Given the description of an element on the screen output the (x, y) to click on. 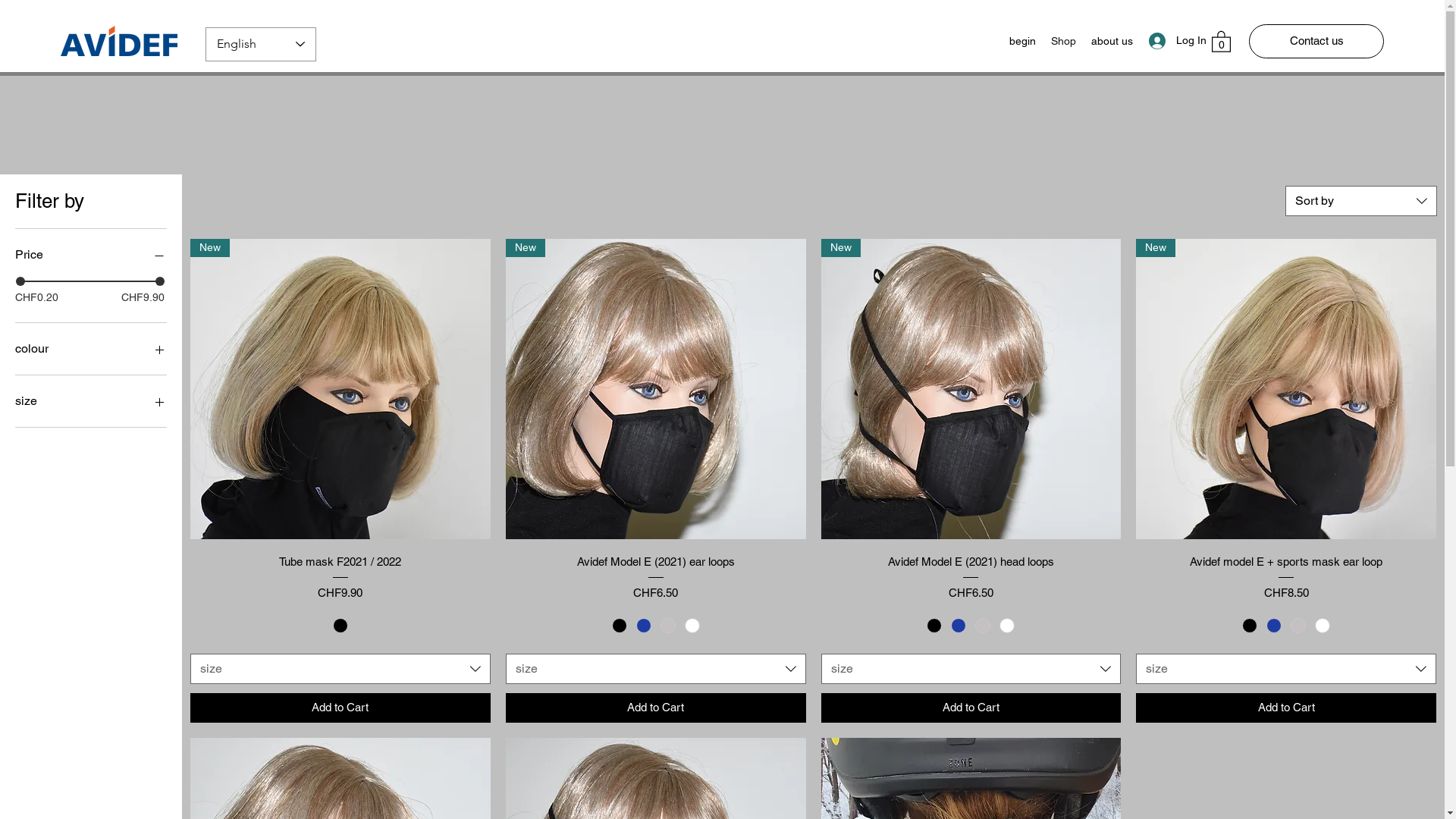
Shop Element type: text (1063, 40)
Add to Cart Element type: text (970, 707)
Contact us Element type: text (1315, 41)
Price Element type: text (90, 254)
New Element type: text (970, 388)
Log In Element type: text (1172, 40)
size Element type: text (90, 400)
colour Element type: text (90, 348)
Add to Cart Element type: text (1285, 707)
Add to Cart Element type: text (340, 707)
Avidef Model E (2021) ear loops
Price
CHF6.50 Element type: text (655, 576)
size Element type: text (340, 668)
Avidef Model E (2021) head loops
Price
CHF6.50 Element type: text (970, 576)
size Element type: text (655, 668)
Avidef model E + sports mask ear loop
Price
CHF8.50 Element type: text (1285, 576)
Tube mask F2021 / 2022
Price
CHF9.90 Element type: text (340, 576)
New Element type: text (340, 388)
New Element type: text (1285, 388)
begin Element type: text (1022, 40)
0 Element type: text (1220, 40)
size Element type: text (970, 668)
New Element type: text (655, 388)
about us Element type: text (1111, 40)
Sort by Element type: text (1361, 200)
size Element type: text (1285, 668)
Add to Cart Element type: text (655, 707)
